Given the description of an element on the screen output the (x, y) to click on. 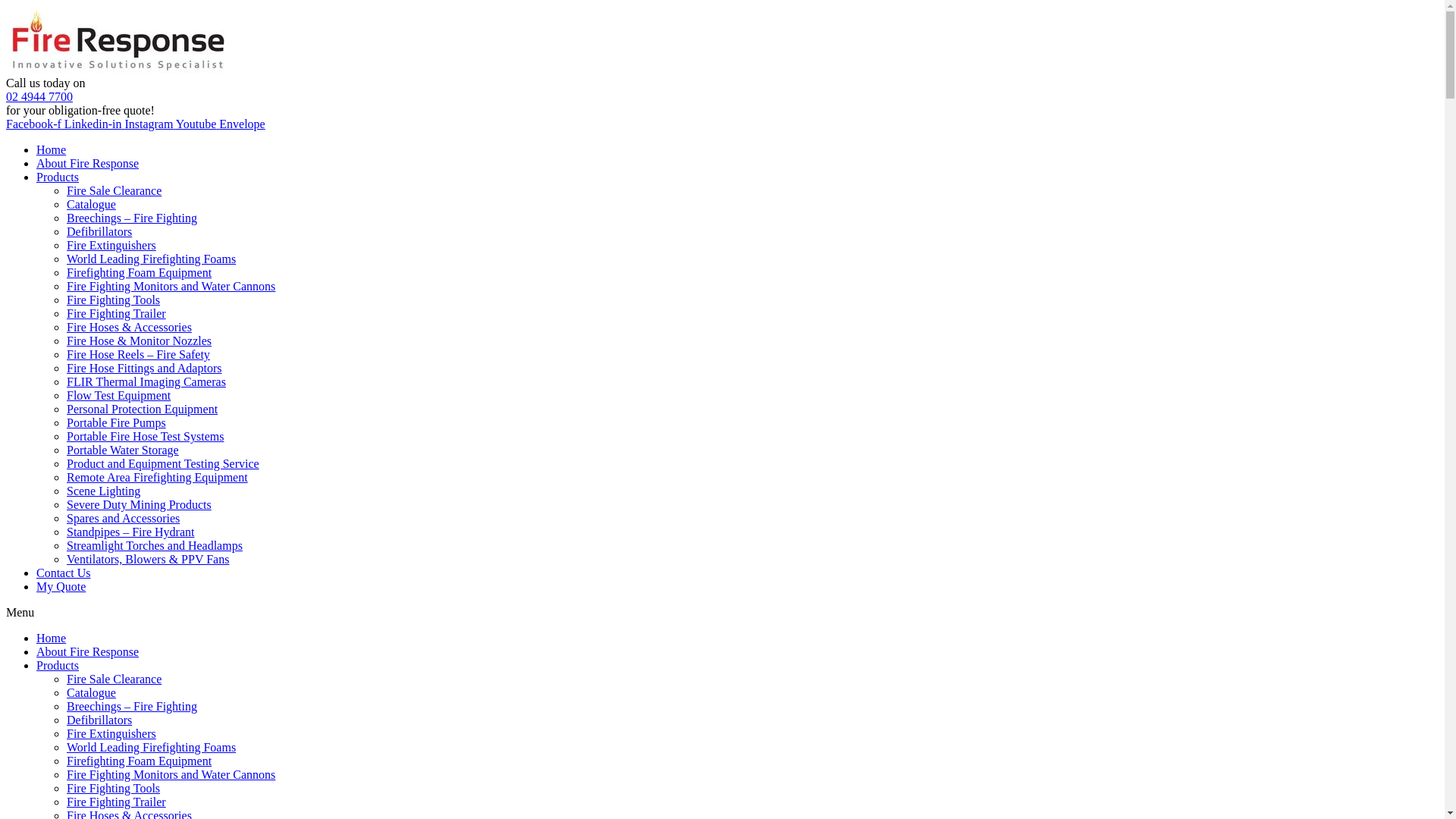
Portable Fire Hose Test Systems Element type: text (144, 435)
Remote Area Firefighting Equipment Element type: text (156, 476)
FLIR Thermal Imaging Cameras Element type: text (145, 381)
Home Element type: text (50, 149)
Scene Lighting Element type: text (103, 490)
Youtube Element type: text (197, 123)
Ventilators, Blowers & PPV Fans Element type: text (147, 558)
Products Element type: text (57, 176)
Product and Equipment Testing Service Element type: text (162, 463)
Firefighting Foam Equipment Element type: text (138, 760)
Flow Test Equipment Element type: text (118, 395)
World Leading Firefighting Foams Element type: text (150, 746)
Fire Sale Clearance Element type: text (113, 190)
Envelope Element type: text (241, 123)
Portable Fire Pumps Element type: text (116, 422)
Streamlight Torches and Headlamps Element type: text (154, 545)
Fire Fighting Trailer Element type: text (116, 313)
Firefighting Foam Equipment Element type: text (138, 272)
World Leading Firefighting Foams Element type: text (150, 258)
About Fire Response Element type: text (87, 162)
Fire Hose Fittings and Adaptors Element type: text (143, 367)
Fire Sale Clearance Element type: text (113, 678)
Spares and Accessories Element type: text (122, 517)
Fire Hoses & Accessories Element type: text (128, 326)
My Quote Element type: text (60, 586)
Catalogue Element type: text (91, 692)
Fire Hose & Monitor Nozzles Element type: text (138, 340)
Instagram Element type: text (149, 123)
Portable Water Storage Element type: text (122, 449)
Fire Fighting Monitors and Water Cannons Element type: text (170, 774)
Defibrillators Element type: text (98, 719)
Home Element type: text (50, 637)
Contact Us Element type: text (63, 572)
02 4944 7700 Element type: text (39, 96)
Fire Fighting Trailer Element type: text (116, 801)
Facebook-f Element type: text (35, 123)
Fire Fighting Tools Element type: text (113, 787)
Defibrillators Element type: text (98, 231)
Linkedin-in Element type: text (94, 123)
Severe Duty Mining Products Element type: text (138, 504)
Fire Fighting Tools Element type: text (113, 299)
Fire Extinguishers Element type: text (111, 733)
Products Element type: text (57, 664)
Personal Protection Equipment Element type: text (141, 408)
About Fire Response Element type: text (87, 651)
Fire Fighting Monitors and Water Cannons Element type: text (170, 285)
Fire Extinguishers Element type: text (111, 244)
Catalogue Element type: text (91, 203)
